Given the description of an element on the screen output the (x, y) to click on. 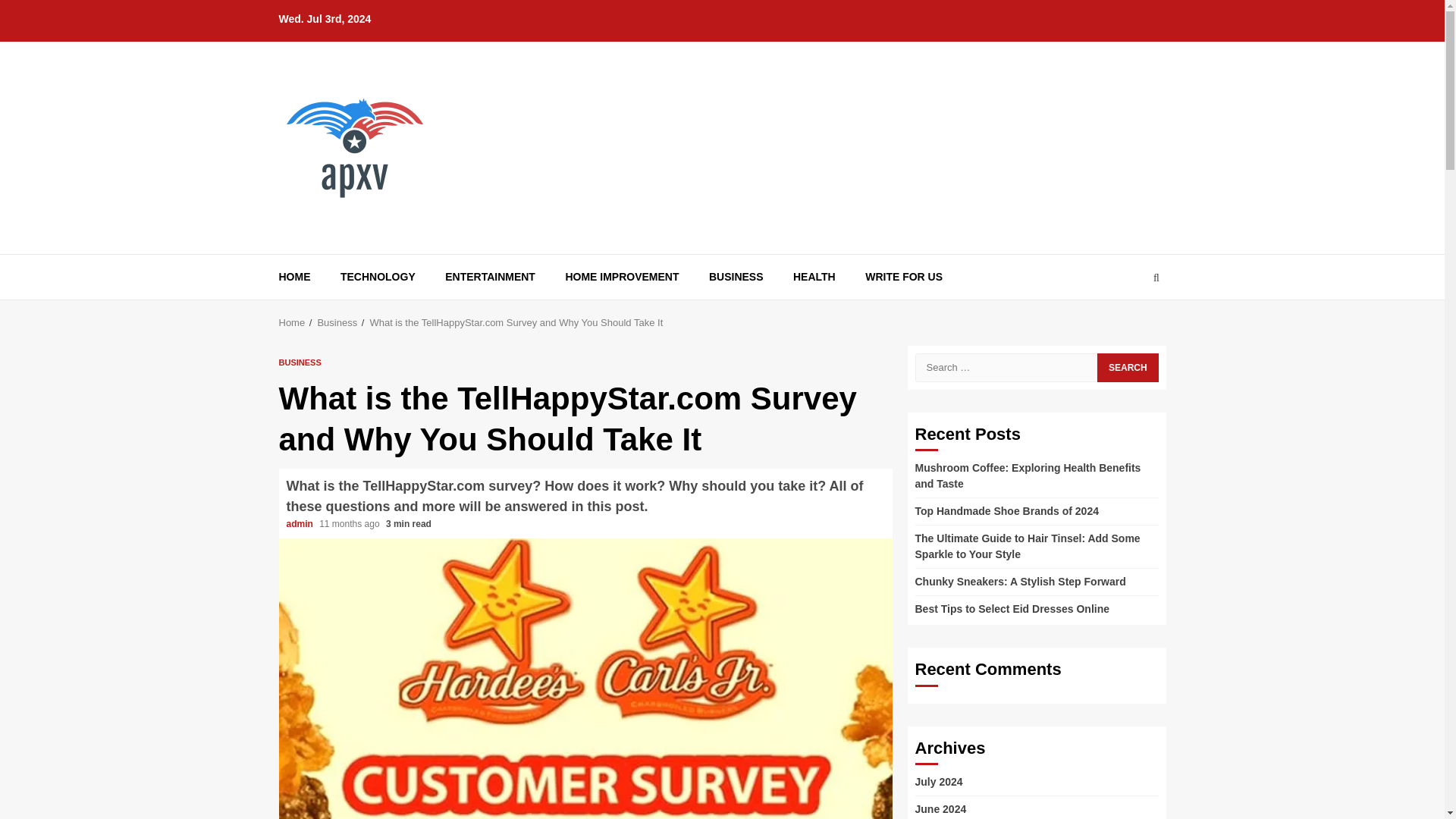
TECHNOLOGY (377, 277)
admin (300, 523)
HOME IMPROVEMENT (621, 277)
ENTERTAINMENT (490, 277)
Home (292, 322)
BUSINESS (735, 277)
Business (336, 322)
HOME (295, 277)
Search (1126, 322)
WRITE FOR US (903, 277)
Search (1127, 367)
BUSINESS (300, 361)
HEALTH (814, 277)
Search (1127, 367)
